Given the description of an element on the screen output the (x, y) to click on. 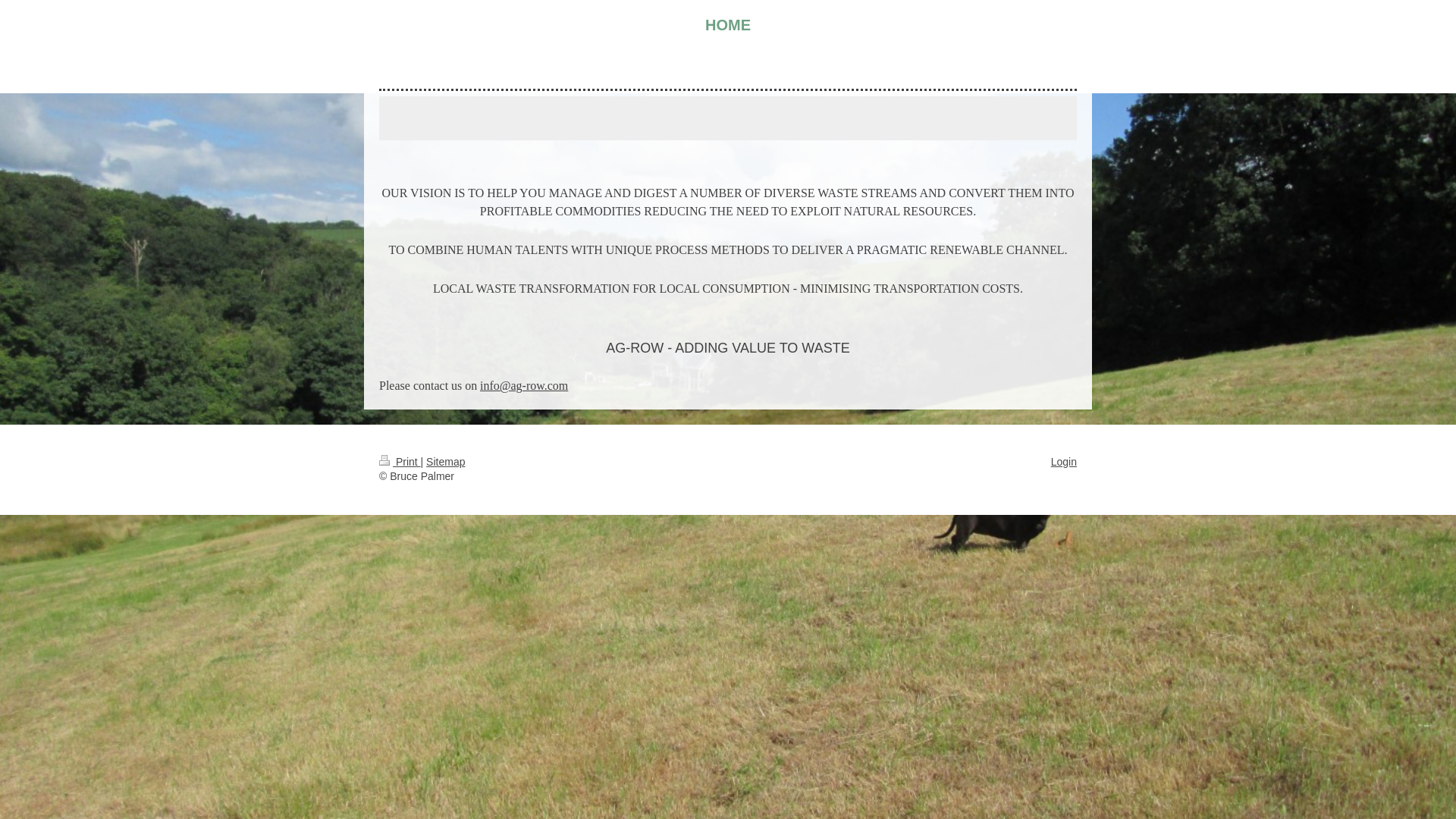
Print (399, 461)
Sitemap (445, 461)
Login (1064, 461)
HOME (727, 25)
